Given the description of an element on the screen output the (x, y) to click on. 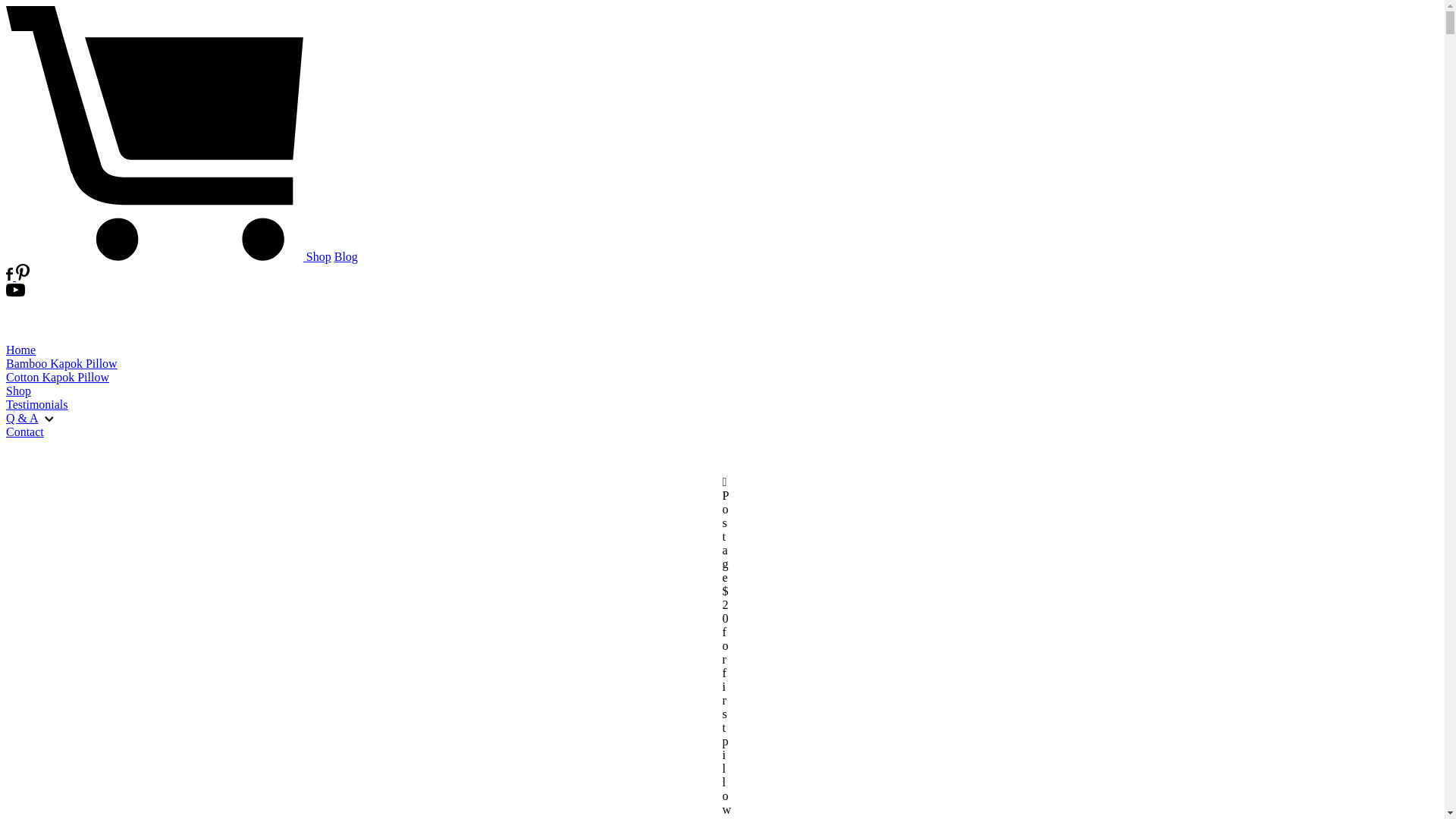
Contact Element type: text (722, 432)
Shop Element type: text (318, 256)
Cotton Kapok Pillow Element type: text (722, 377)
Shop Element type: text (722, 391)
Home Element type: text (722, 350)
Testimonials Element type: text (722, 404)
A link to this website's Facebook. Element type: hover (9, 275)
Q & A Element type: text (722, 418)
A link to this website's Pinterest. Element type: hover (20, 275)
A link to this website's Youtube. Element type: hover (15, 291)
Blog Element type: text (345, 256)
Bamboo Kapok Pillow Element type: text (722, 363)
